Given the description of an element on the screen output the (x, y) to click on. 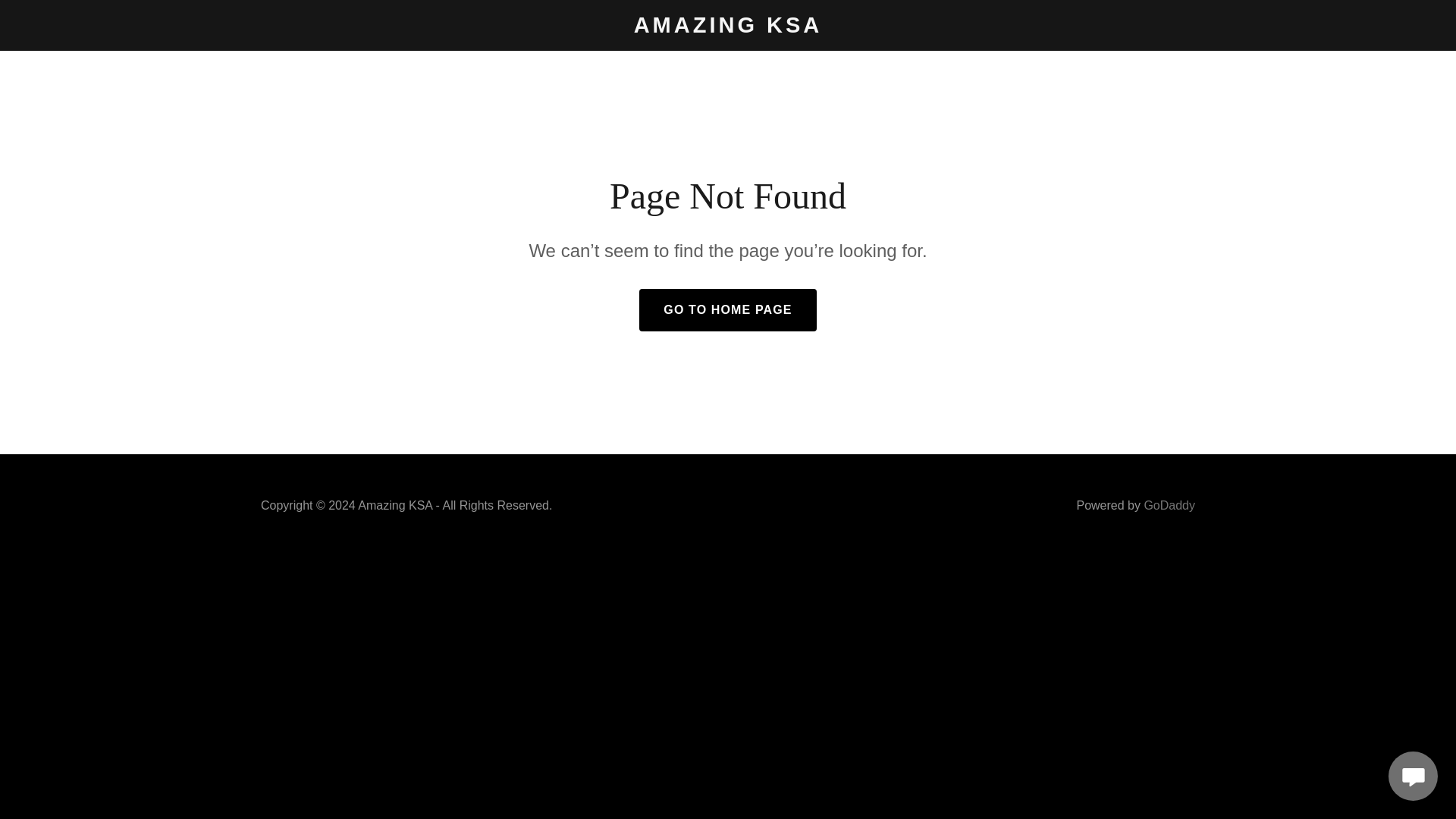
GoDaddy (1168, 504)
Amazing KSA (727, 28)
AMAZING KSA (727, 28)
GO TO HOME PAGE (727, 310)
